Given the description of an element on the screen output the (x, y) to click on. 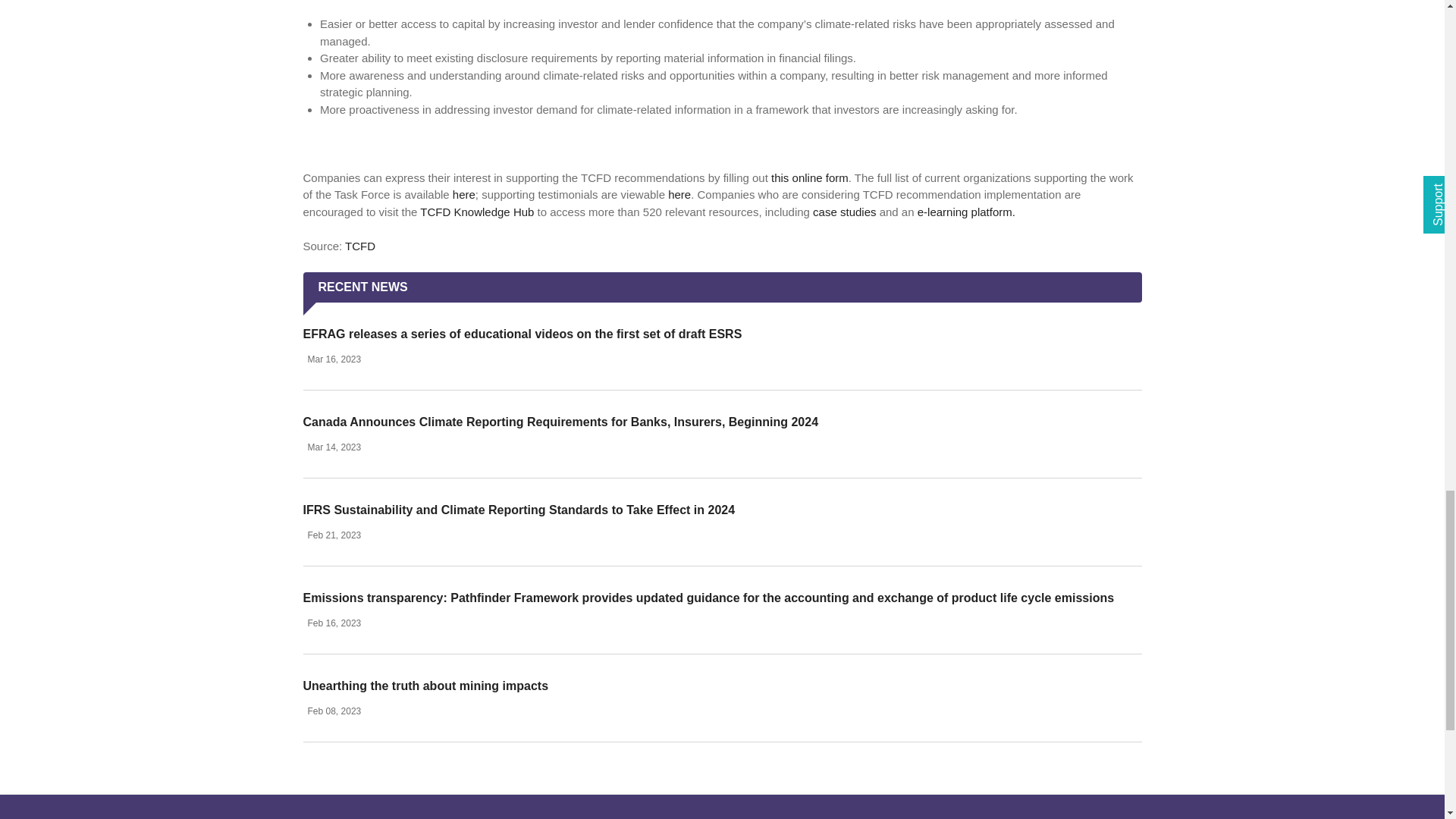
case studies (844, 210)
TCFD Knowledge Hub (477, 210)
Unearthing the truth about mining impacts (425, 685)
here (464, 194)
this online form (809, 177)
TCFD (360, 245)
